Given the description of an element on the screen output the (x, y) to click on. 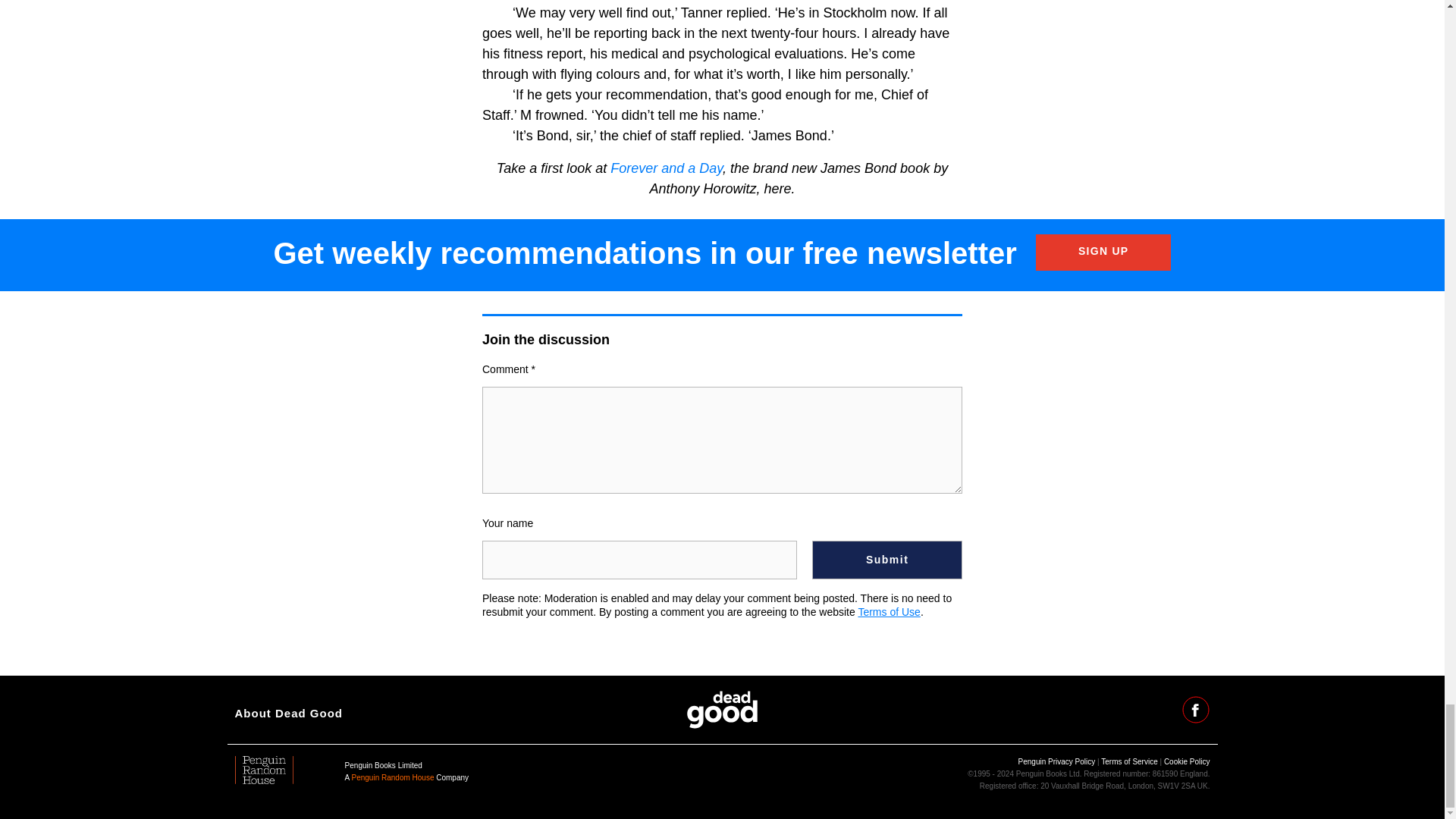
Forever and a Day (666, 168)
Penguin Privacy Policy (1056, 761)
Cookie Policy (1186, 761)
Terms of Service (1128, 761)
SIGN UP (1103, 252)
Submit (887, 559)
Submit (887, 559)
About Dead Good (288, 712)
Terms of Use (888, 612)
Penguin Random House (392, 777)
